Given the description of an element on the screen output the (x, y) to click on. 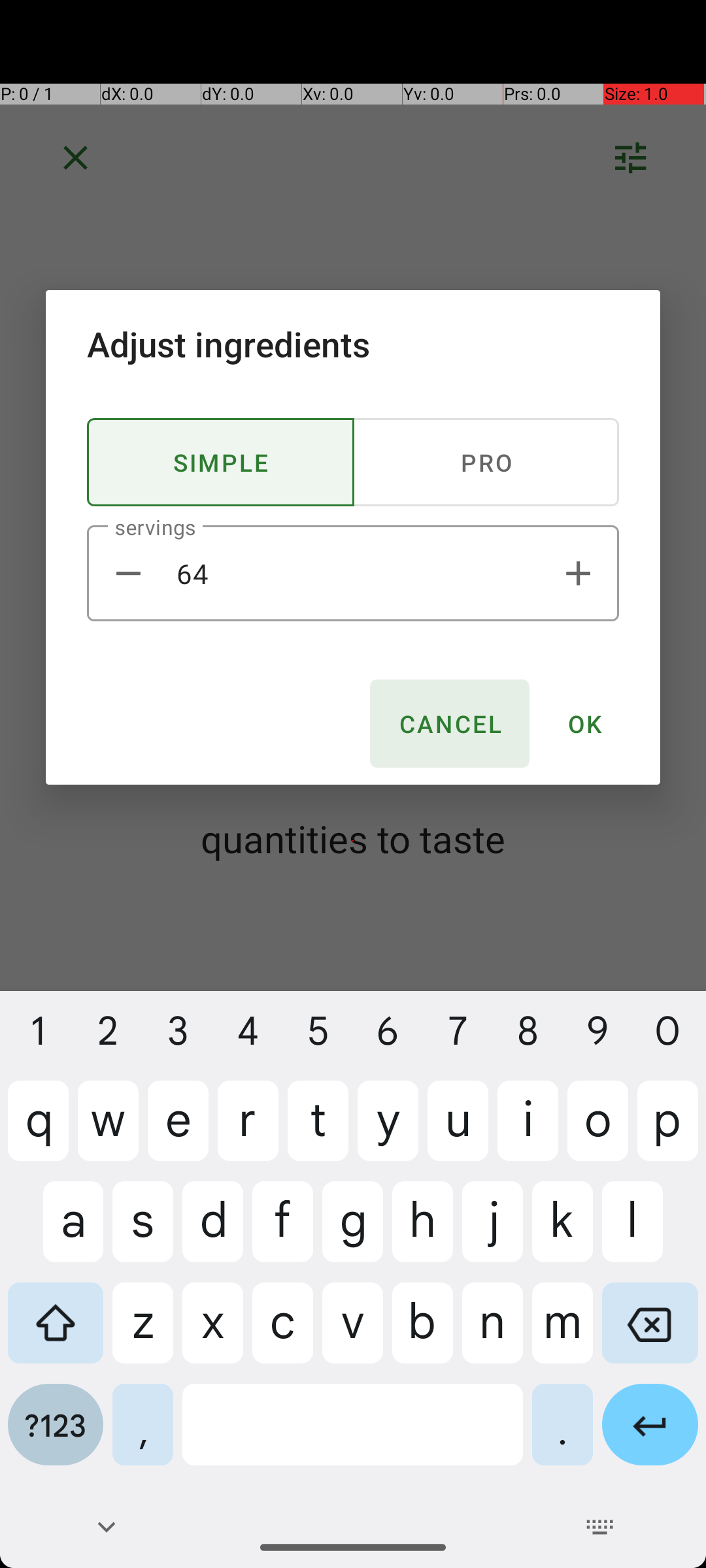
64 Element type: android.widget.EditText (352, 573)
